Given the description of an element on the screen output the (x, y) to click on. 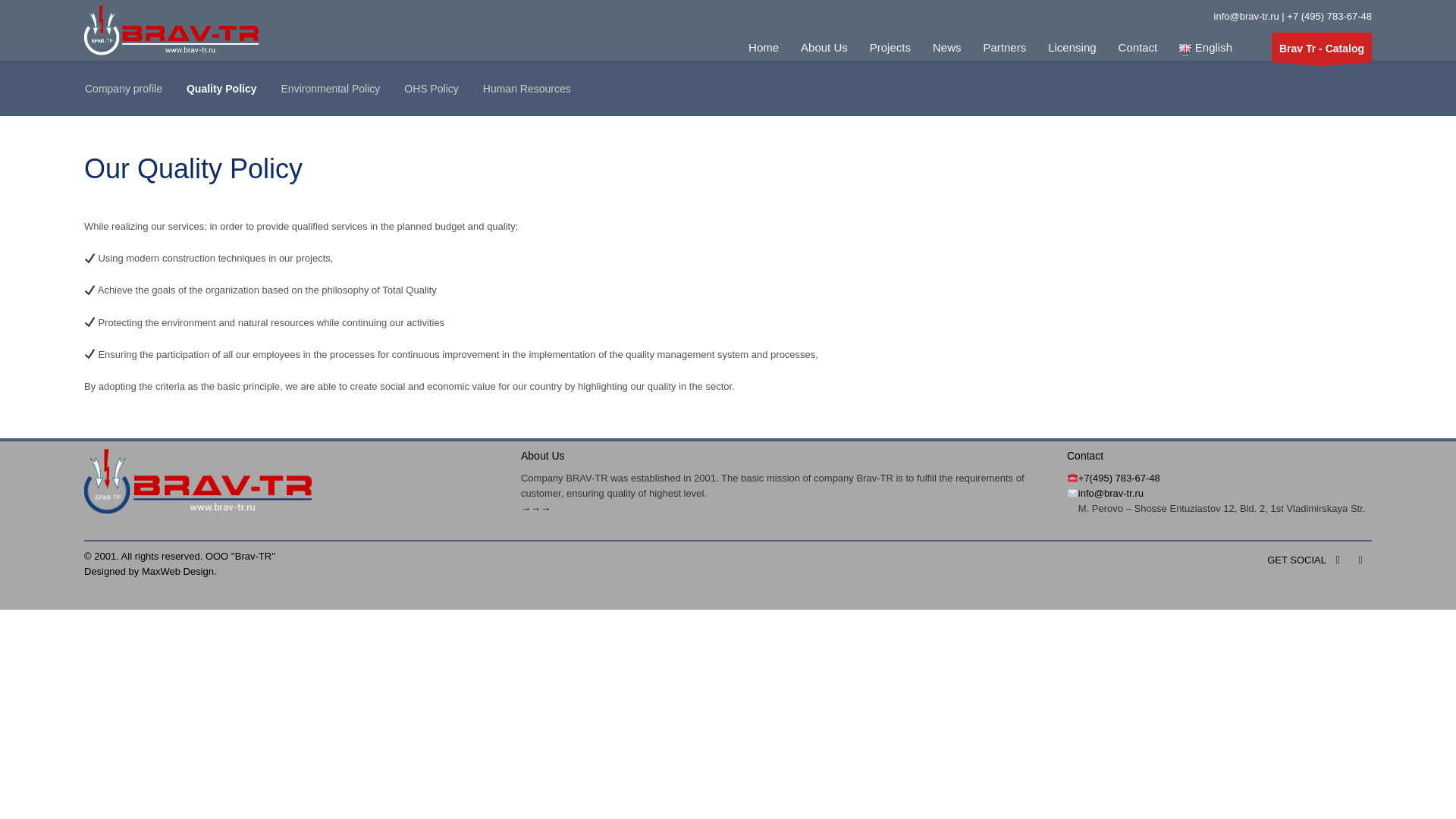
OHS Policy (431, 88)
About Us (824, 46)
Quality Policy (221, 88)
Facebook (1337, 559)
Contact (1138, 46)
Human Resources (526, 88)
English (1205, 46)
Brav TR (1321, 47)
Environmental Policy (331, 88)
Brav Tr - Catalog (1321, 47)
